Given the description of an element on the screen output the (x, y) to click on. 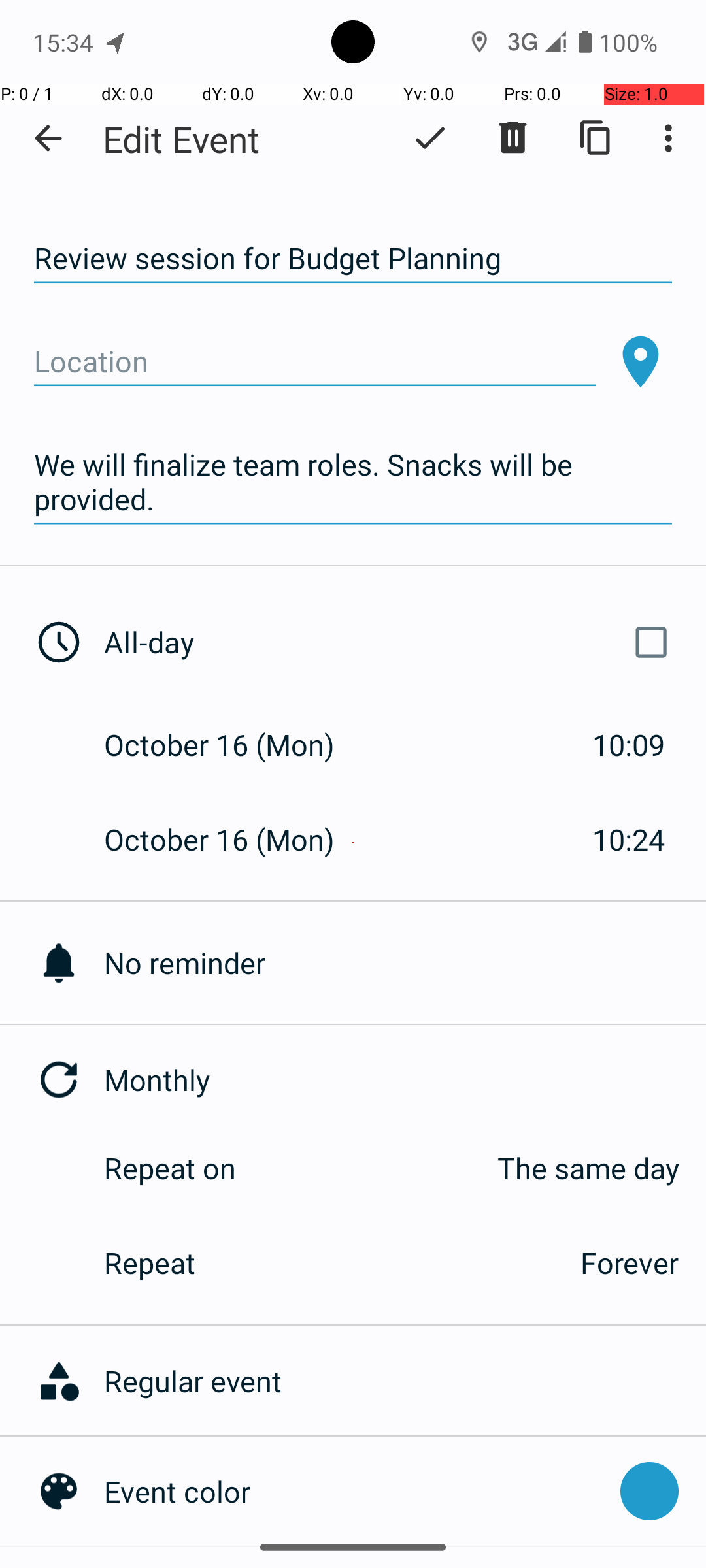
Review session for Budget Planning Element type: android.widget.EditText (352, 258)
We will finalize team roles. Snacks will be provided. Element type: android.widget.EditText (352, 482)
October 16 (Mon) Element type: android.widget.TextView (232, 744)
10:09 Element type: android.widget.TextView (628, 744)
10:24 Element type: android.widget.TextView (628, 838)
Monthly Element type: android.widget.TextView (404, 1079)
Repeat on Element type: android.widget.TextView (169, 1167)
The same day Element type: android.widget.TextView (470, 1167)
Repeat Element type: android.widget.TextView (328, 1262)
Forever Element type: android.widget.TextView (629, 1262)
